Given the description of an element on the screen output the (x, y) to click on. 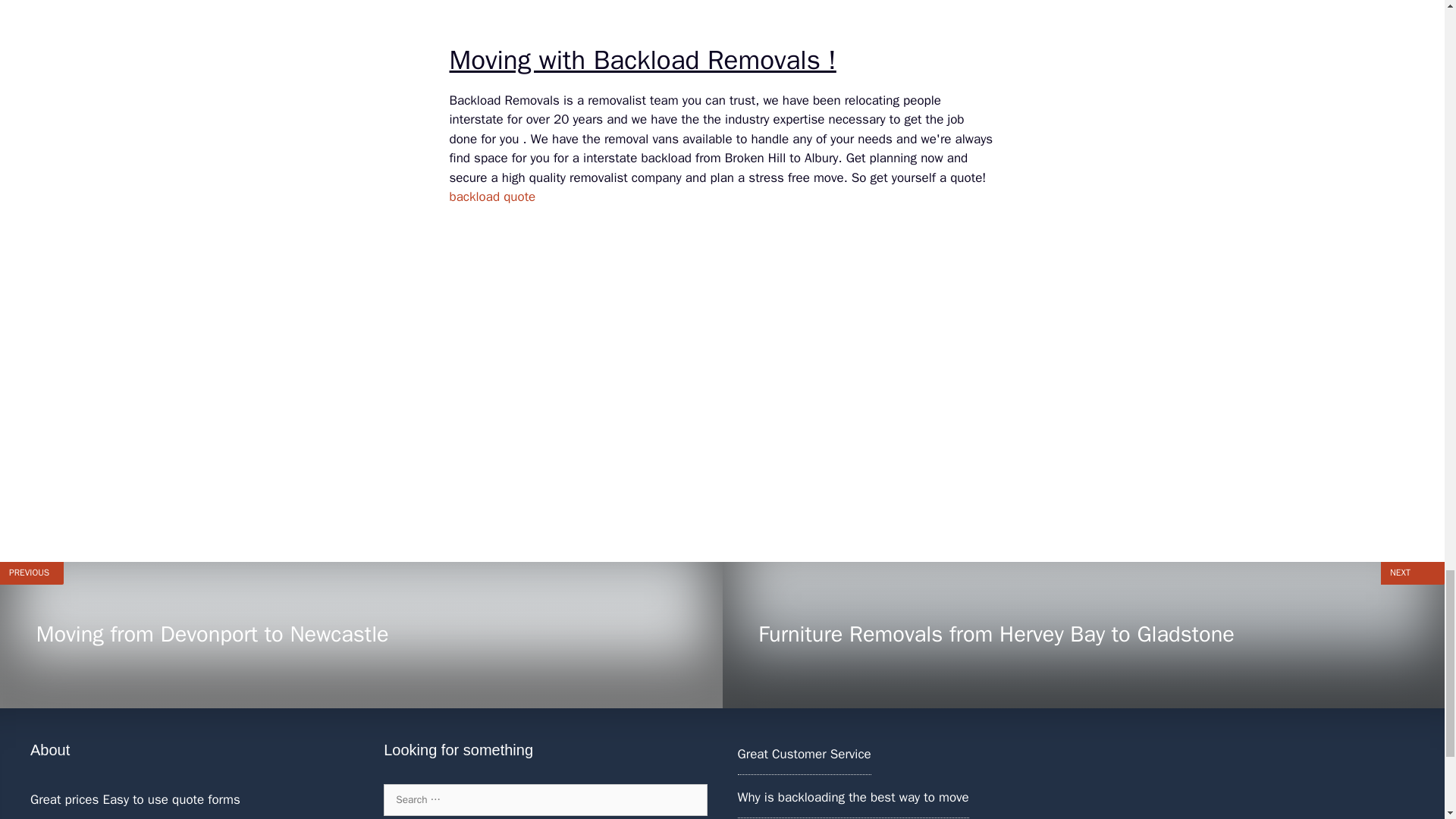
Why is backloading the best way to move (852, 797)
Great Customer Service (803, 754)
Search for: (545, 799)
backload quote (491, 196)
